Given the description of an element on the screen output the (x, y) to click on. 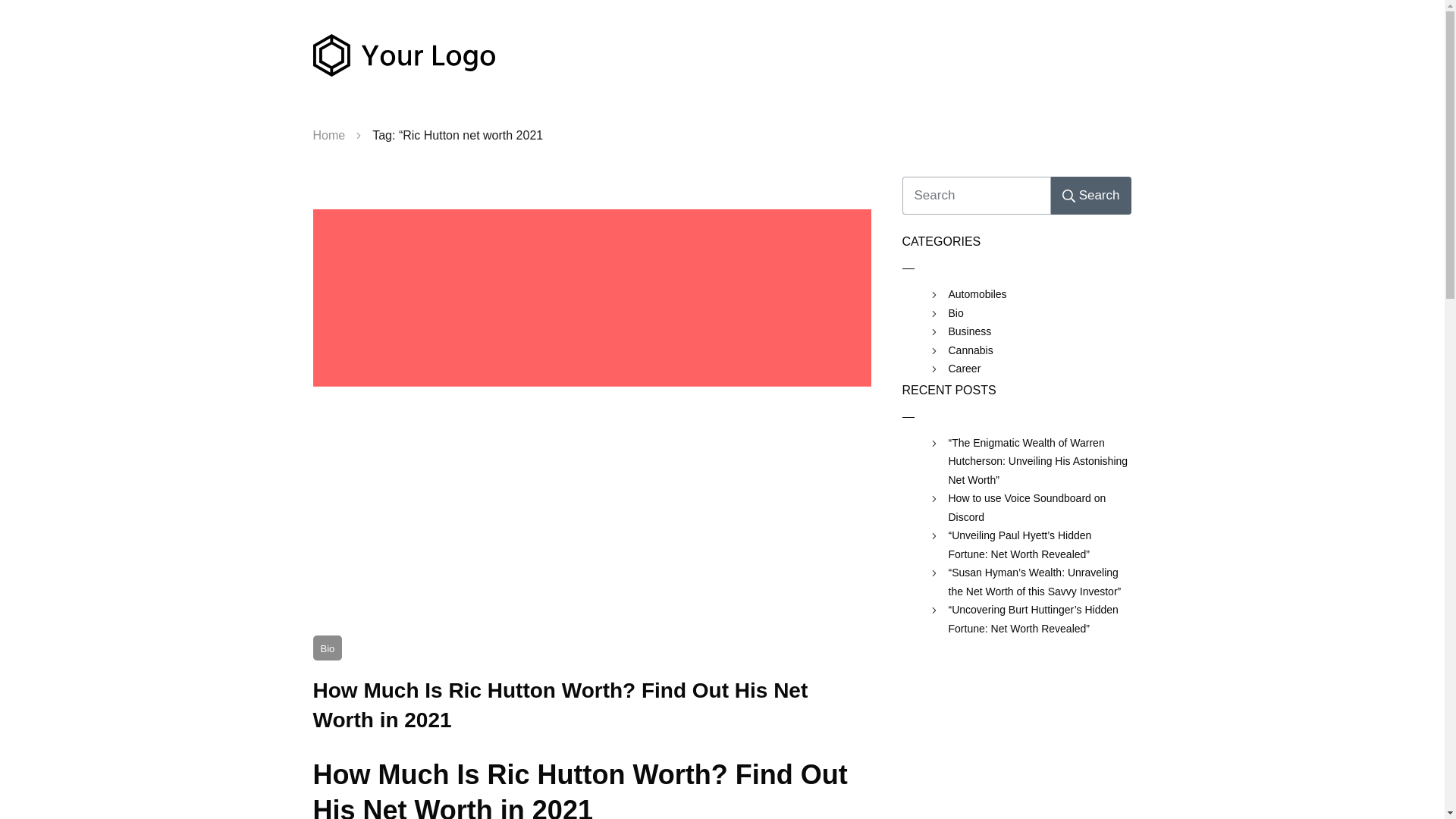
How Much Is Ric Hutton Worth? Find Out His Net Worth in 2021 (560, 705)
Cannabis (969, 350)
Career (963, 368)
How Much Is Ric Hutton Worth? Find Out His Net Worth in 2021 (560, 705)
Search (1091, 195)
Home (329, 135)
How to use Voice Soundboard on Discord (1039, 507)
Automobiles (976, 294)
Business (969, 331)
